Given the description of an element on the screen output the (x, y) to click on. 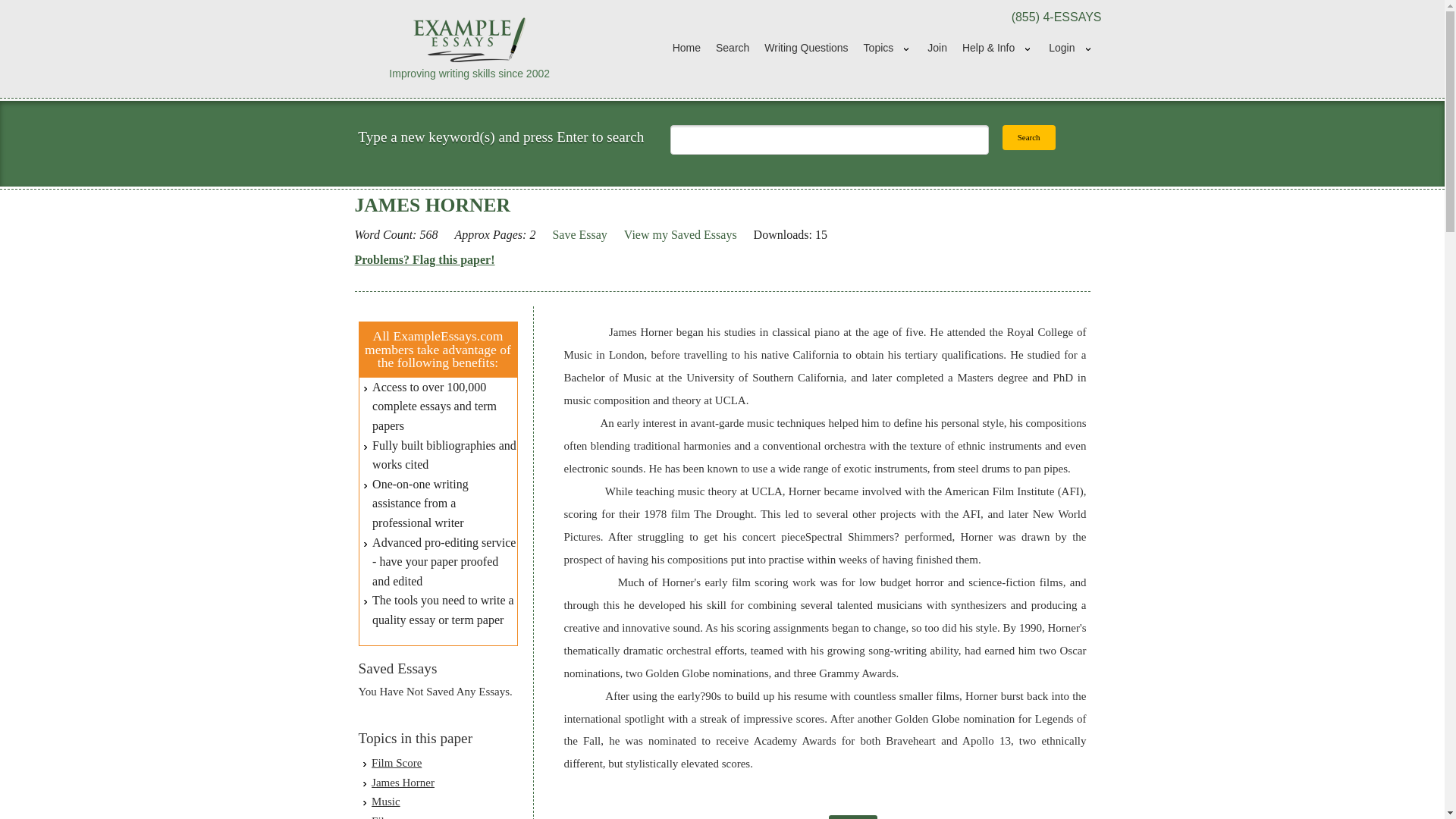
Save Essay (579, 234)
Home (686, 48)
Problems? Flag this paper! (425, 260)
Click here to save this paper for future access (579, 234)
Login (1070, 48)
Film Score (396, 762)
View my Saved Essays (680, 234)
Topics (888, 48)
Writing Questions (806, 48)
Search (732, 48)
Search (1029, 137)
Music (385, 801)
Join (937, 48)
Film (382, 816)
Improving writing skills since 2002 (470, 48)
